Given the description of an element on the screen output the (x, y) to click on. 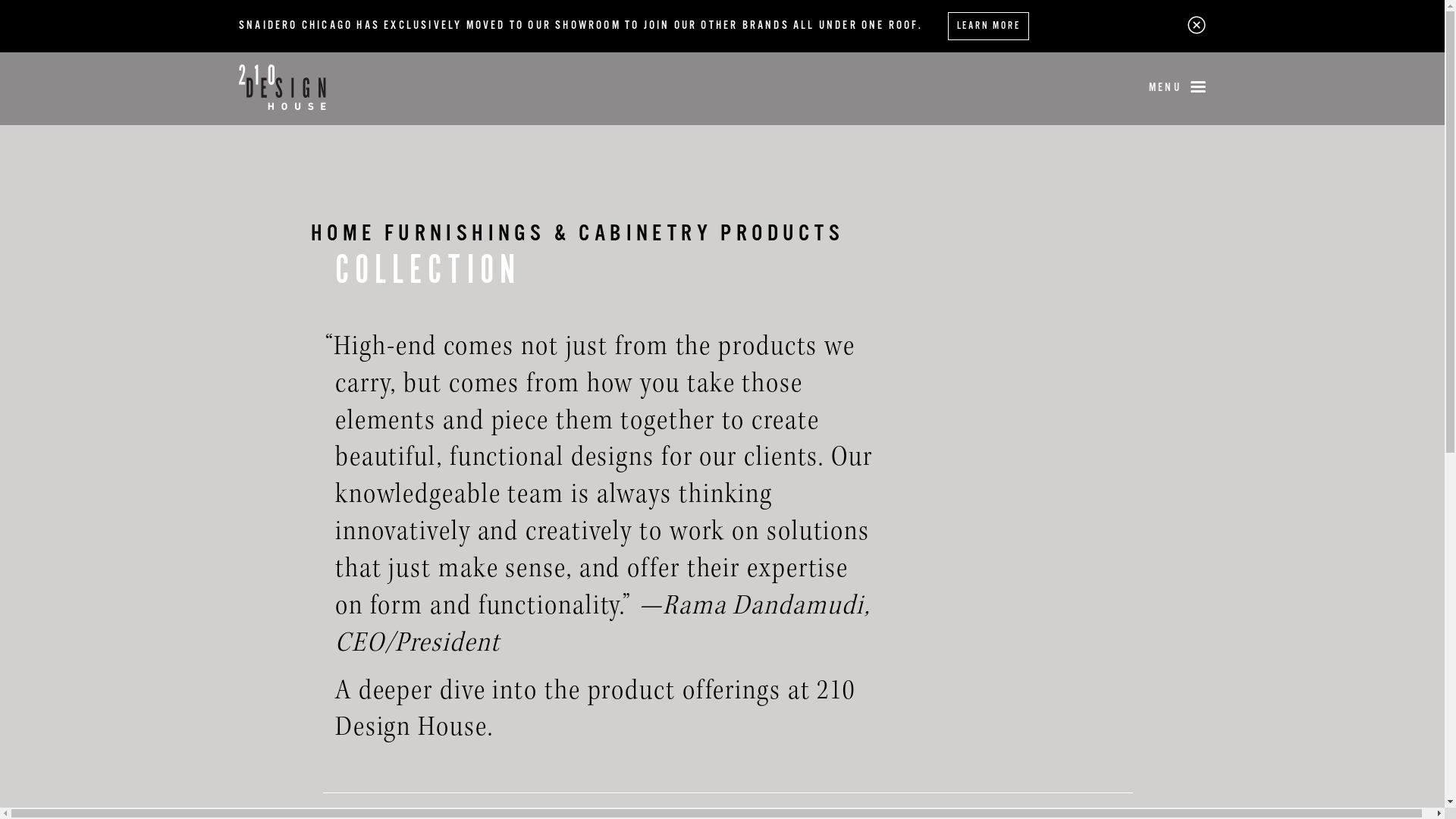
LEARN MORE Element type: text (988, 26)
